Given the description of an element on the screen output the (x, y) to click on. 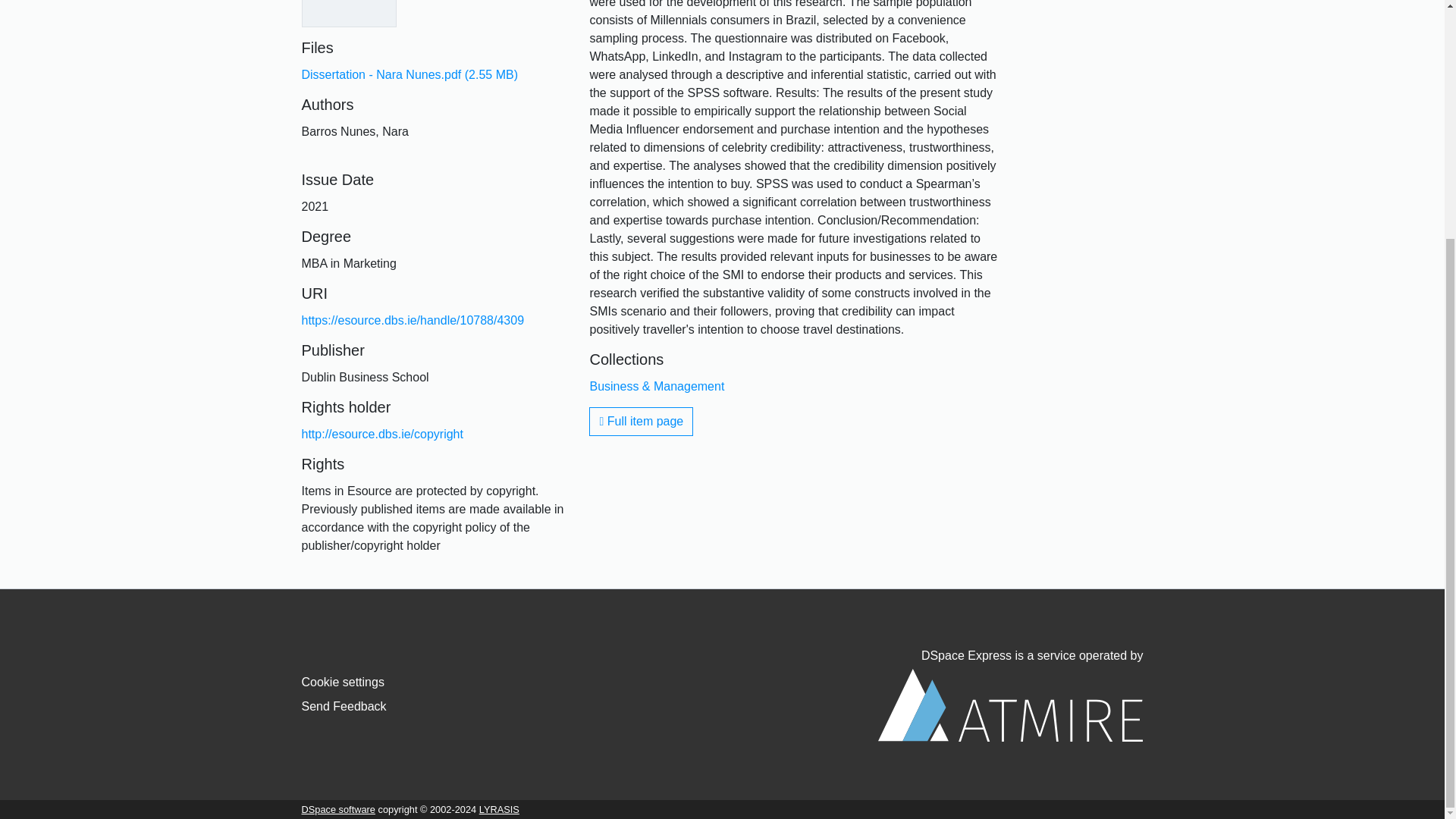
DSpace Express is a service operated by (1009, 695)
LYRASIS (499, 808)
Full item page (641, 421)
DSpace software (338, 808)
Send Feedback (344, 706)
Cookie settings (342, 681)
